Given the description of an element on the screen output the (x, y) to click on. 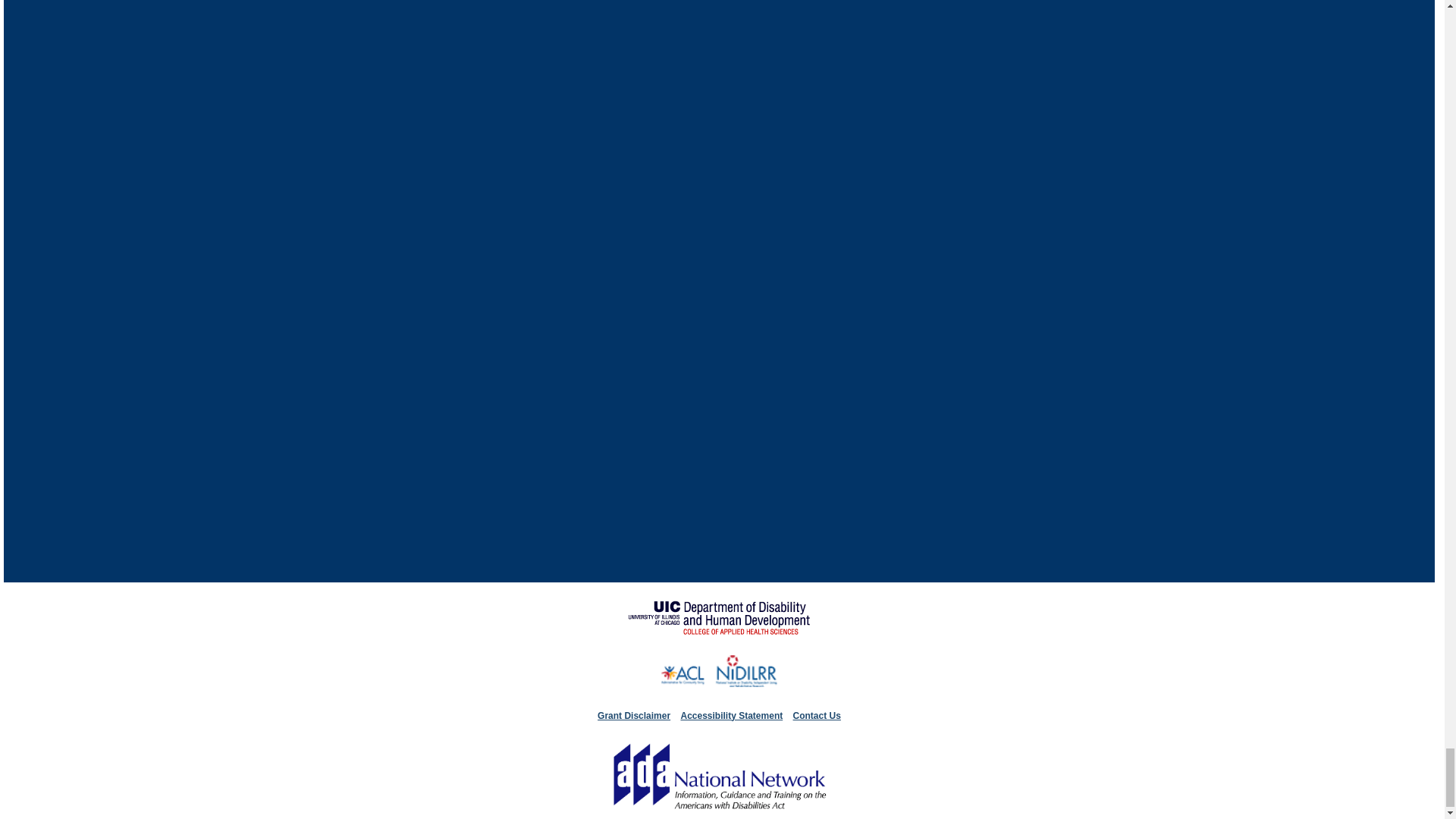
Go To ADA National Network (719, 811)
Accessibility Statement (731, 715)
Grant Disclaimer (632, 715)
Contact Us (817, 715)
